Given the description of an element on the screen output the (x, y) to click on. 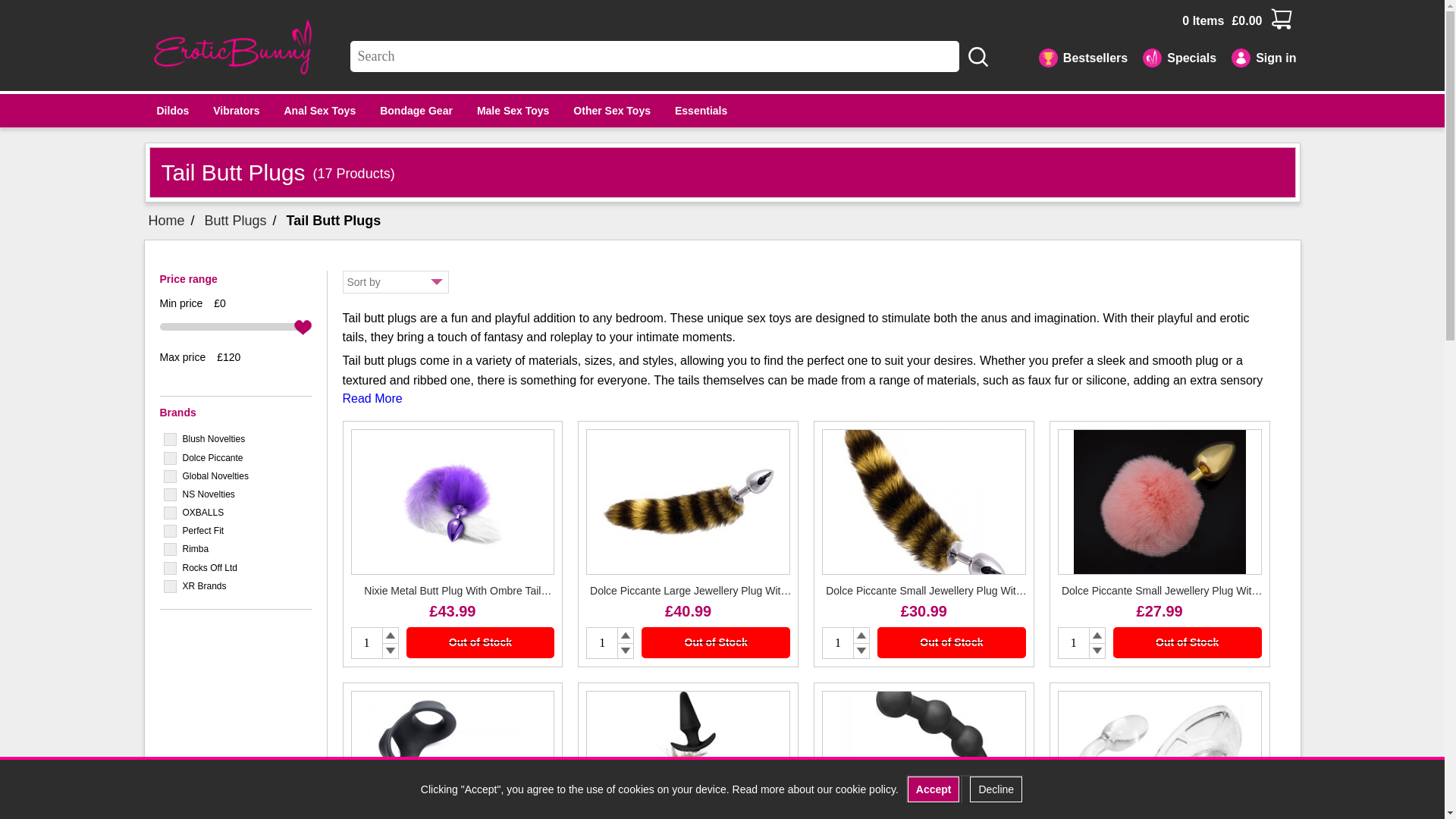
Bestsellers (1074, 54)
Vibrators (235, 110)
1 (365, 643)
Male Sex Toys (512, 110)
Anal Sex Toys (319, 110)
Dildos (172, 110)
Other Sex Toys (611, 110)
1 (1073, 643)
Essentials (700, 110)
120 (234, 326)
1 (601, 643)
1 (837, 643)
Specials (1170, 54)
Sign in (1255, 54)
Bondage Gear (416, 110)
